Given the description of an element on the screen output the (x, y) to click on. 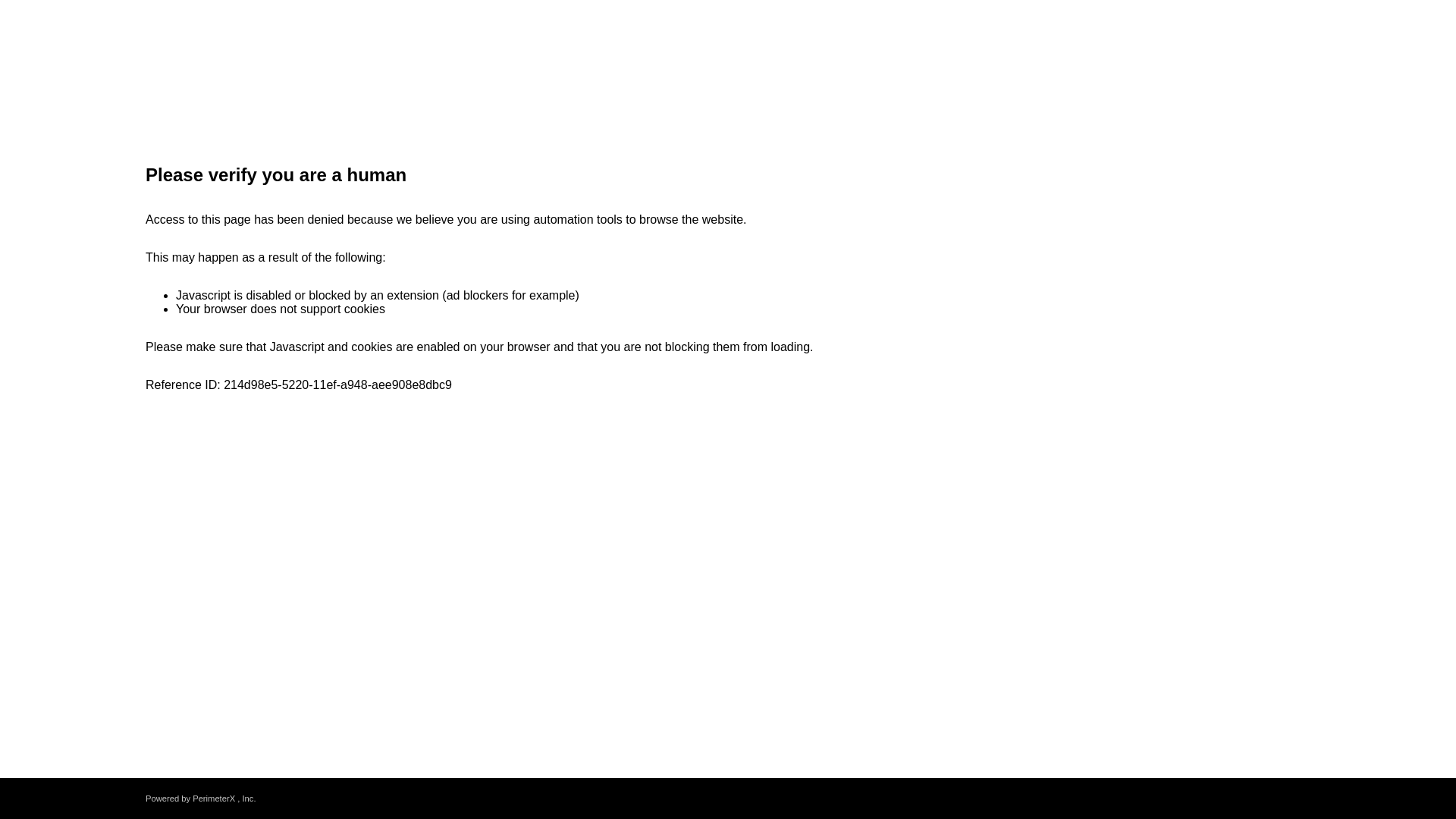
PerimeterX (213, 798)
